Given the description of an element on the screen output the (x, y) to click on. 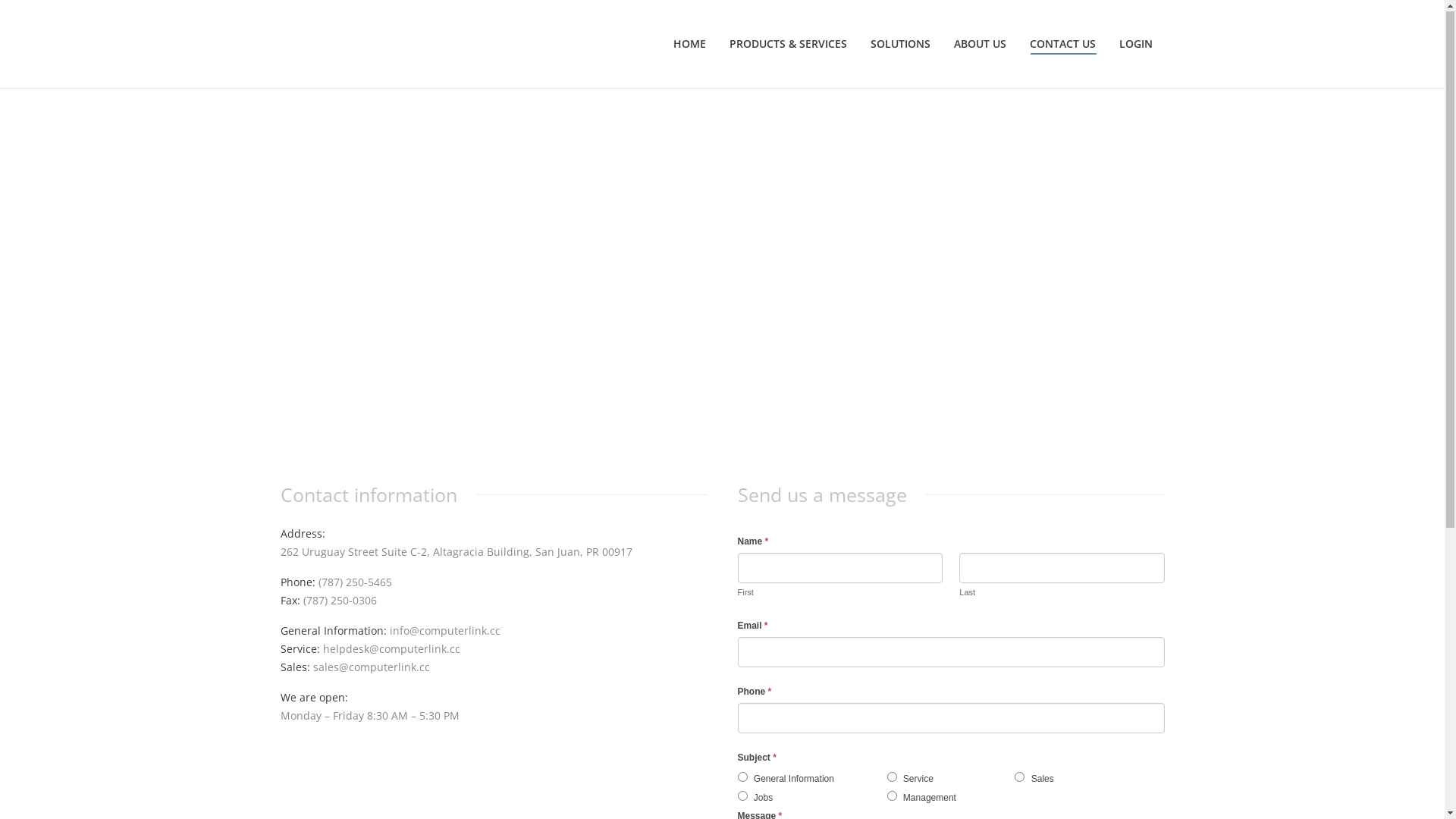
HOME Element type: text (689, 45)
CONTACT US Element type: text (1062, 45)
ABOUT US Element type: text (980, 45)
LOGIN Element type: text (1135, 45)
SOLUTIONS Element type: text (900, 45)
PRODUCTS & SERVICES Element type: text (787, 45)
